Given the description of an element on the screen output the (x, y) to click on. 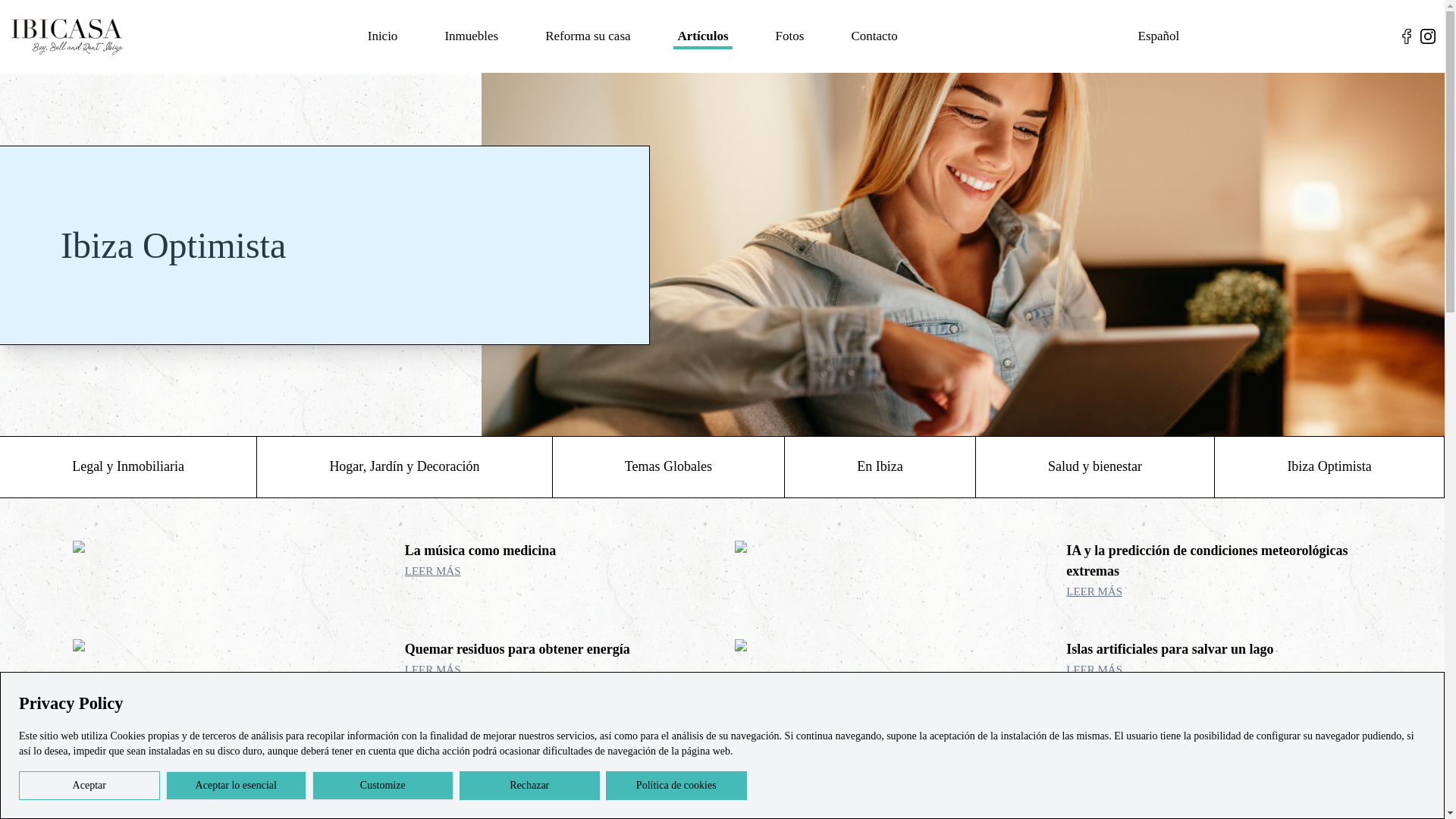
Contacto (874, 36)
Temas Globales (669, 466)
Aceptar lo esencial (235, 785)
Fotos (789, 36)
Rechazar (529, 785)
En Ibiza (879, 466)
Customize (382, 785)
Salud y bienestar (1094, 466)
Aceptar (89, 785)
Inicio (382, 36)
Legal y Inmobiliaria (128, 466)
Inmuebles (470, 36)
translation missing: es.customize (382, 785)
Reforma su casa (588, 36)
